Given the description of an element on the screen output the (x, y) to click on. 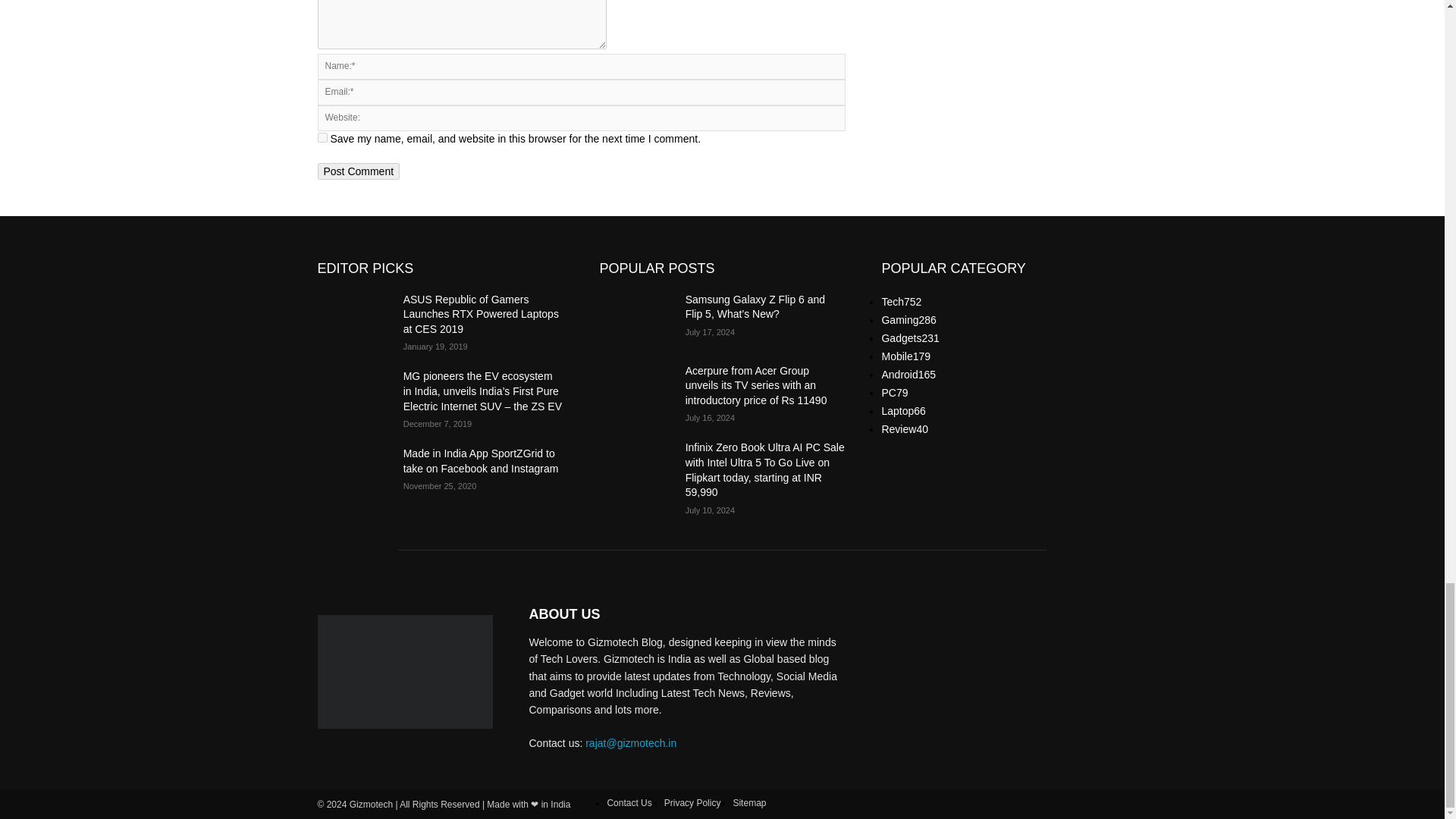
yes (321, 137)
Post Comment (357, 170)
